Given the description of an element on the screen output the (x, y) to click on. 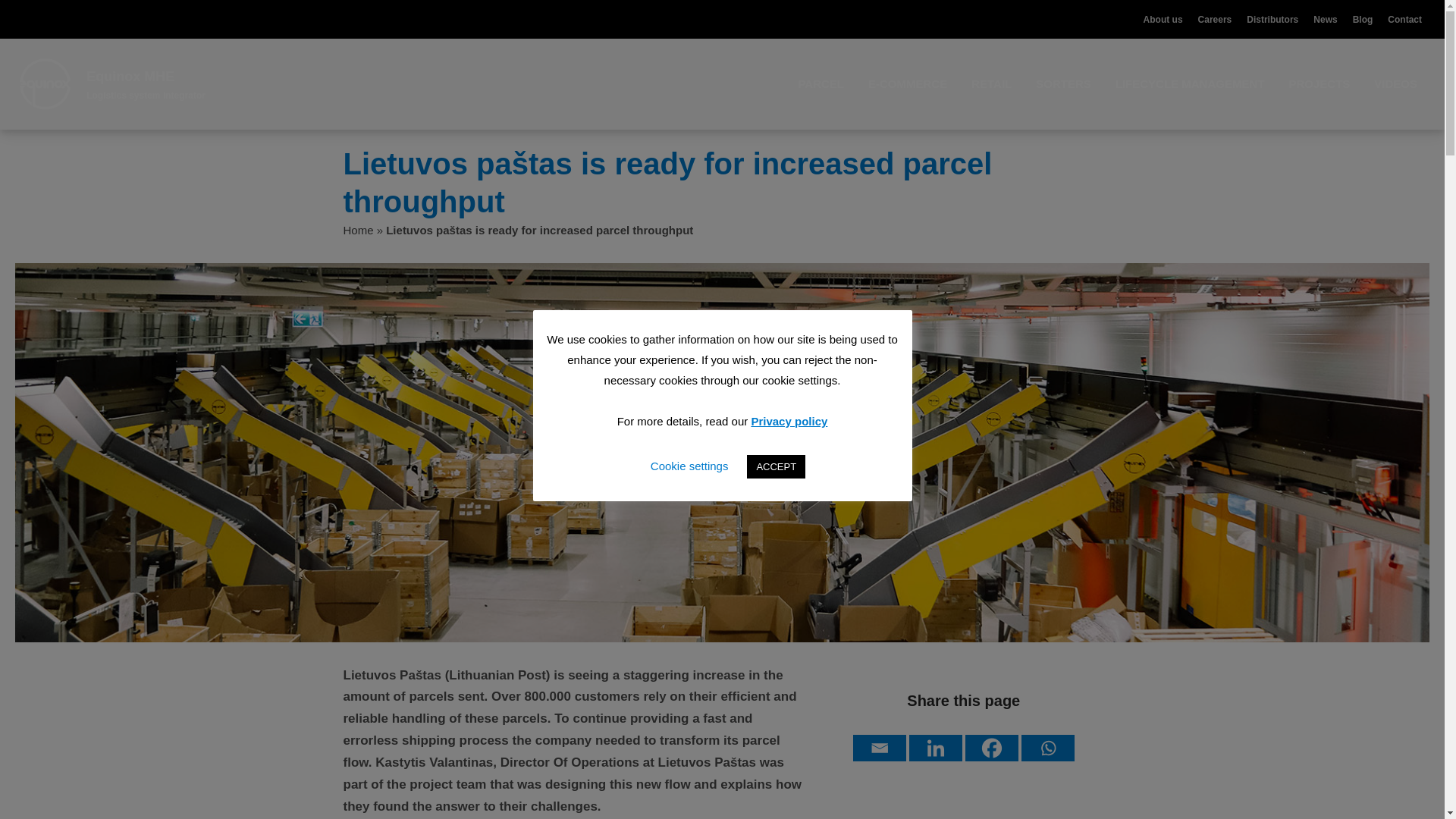
SD-sorter under construction (963, 806)
RETAIL (991, 83)
PROJECTS (1318, 83)
About us (1162, 19)
VIDEOS (1396, 83)
Email (879, 747)
Contact (1404, 19)
News (1324, 19)
PARCEL (820, 83)
Home (357, 229)
Blog (1362, 19)
Equinox MHE (129, 76)
Facebook (991, 747)
Careers (1214, 19)
Distributors (1272, 19)
